Given the description of an element on the screen output the (x, y) to click on. 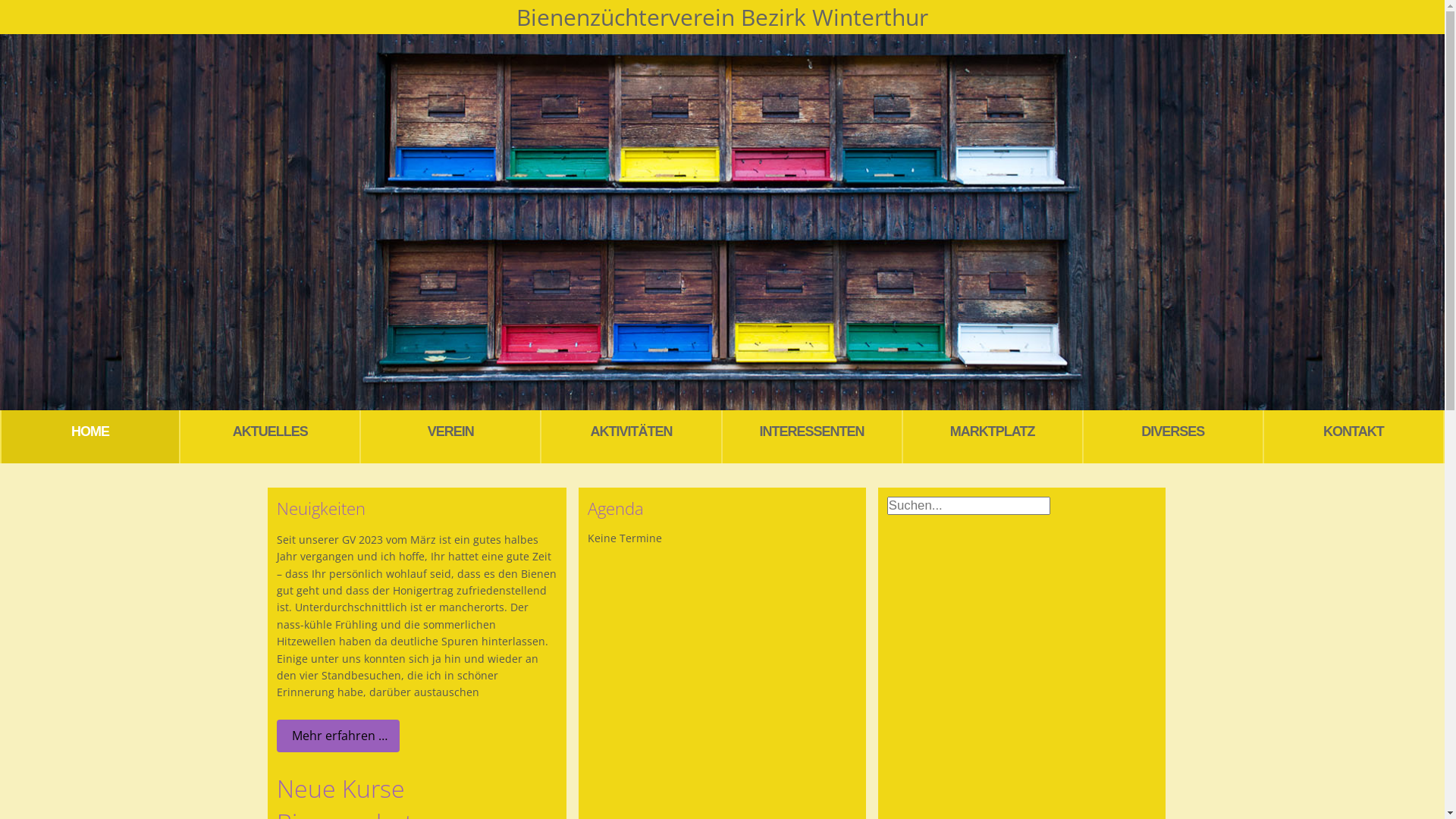
KONTAKT Element type: text (1354, 436)
DIVERSES Element type: text (1173, 436)
HOME Element type: text (90, 436)
VEREIN Element type: text (450, 436)
INTERESSENTEN Element type: text (811, 436)
MARKTPLATZ Element type: text (993, 436)
AKTUELLES Element type: text (270, 436)
